Given the description of an element on the screen output the (x, y) to click on. 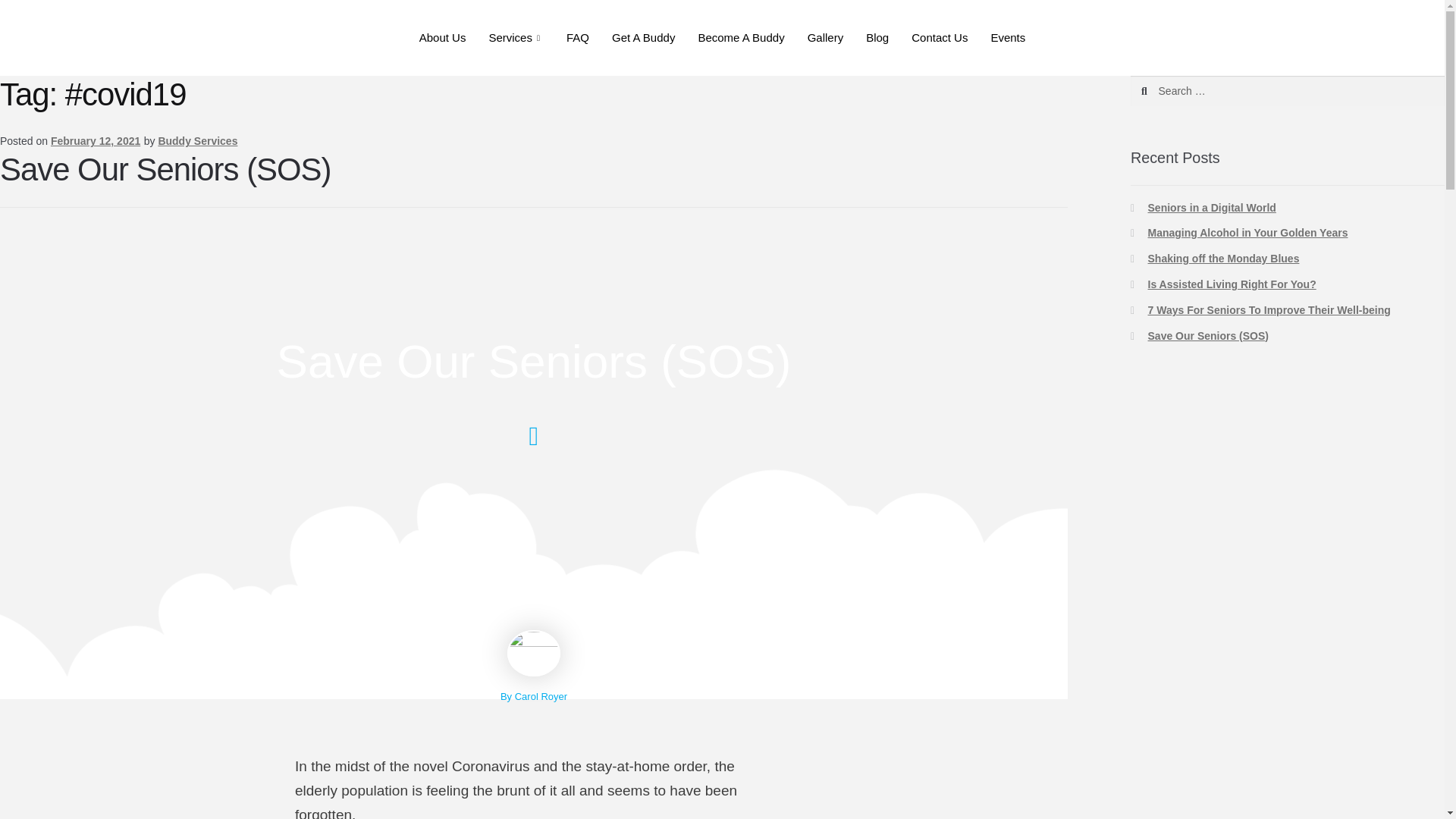
Events (1007, 37)
Contact Us (938, 37)
Buddy Services (197, 141)
About Us (442, 37)
Become A Buddy (739, 37)
Gallery (826, 37)
February 12, 2021 (94, 141)
Get A Buddy (642, 37)
Services (515, 37)
